Given the description of an element on the screen output the (x, y) to click on. 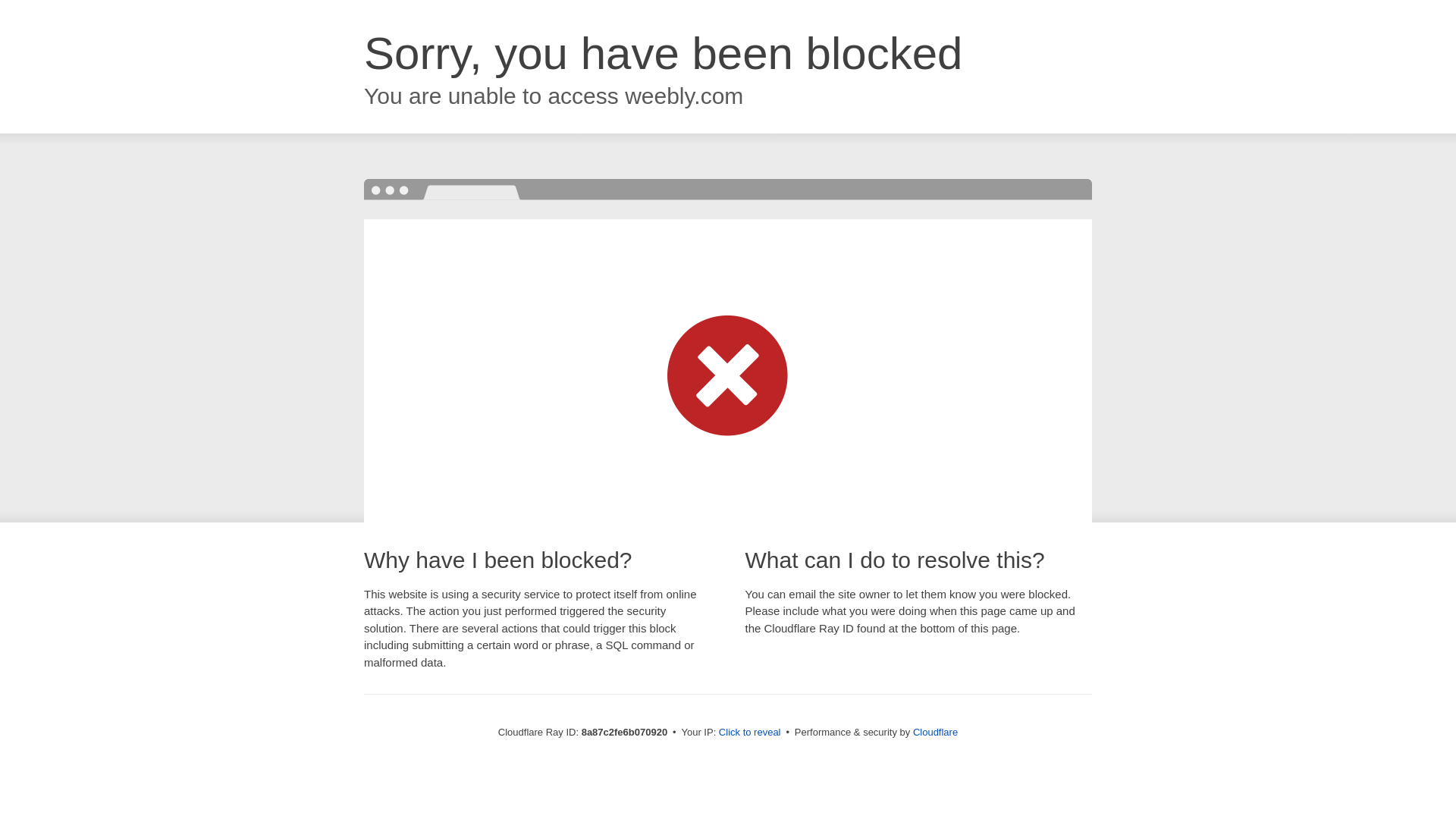
Click to reveal (749, 732)
Cloudflare (935, 731)
